Given the description of an element on the screen output the (x, y) to click on. 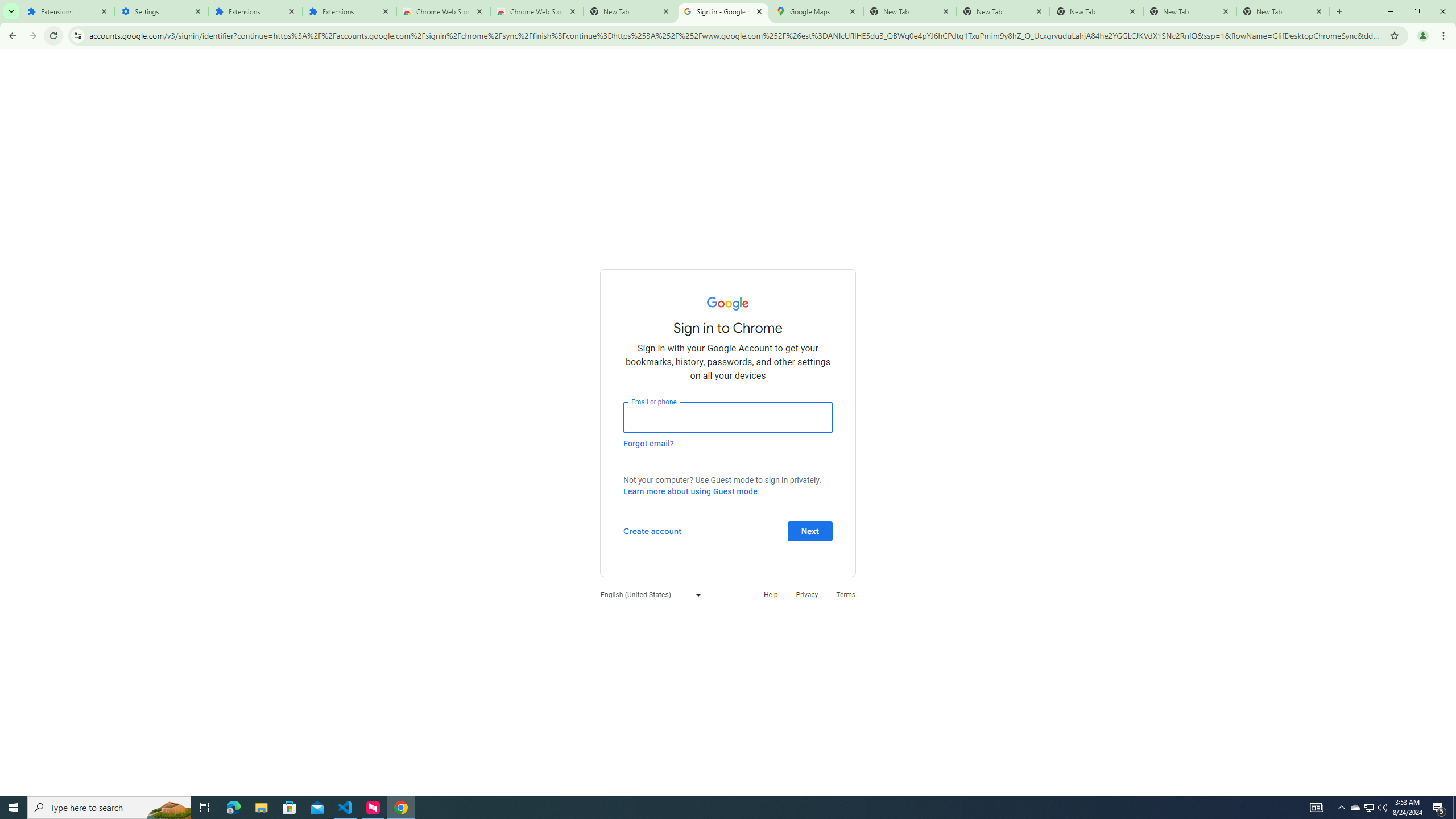
Extensions (349, 11)
Settings (161, 11)
Chrome Web Store - Themes (536, 11)
New Tab (629, 11)
Extensions (67, 11)
Create account (651, 530)
Extensions (255, 11)
